Given the description of an element on the screen output the (x, y) to click on. 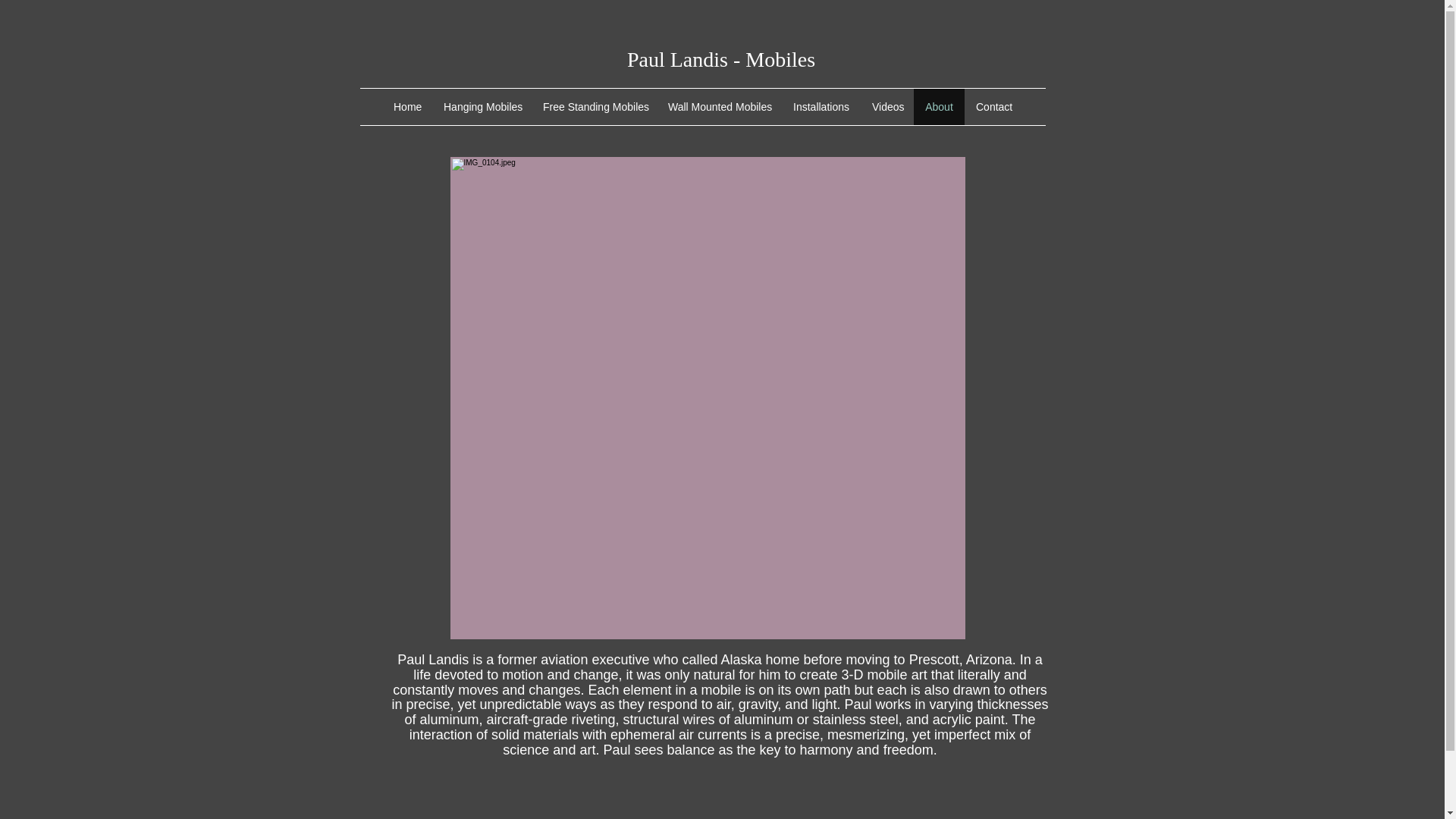
Free Standing Mobiles (593, 106)
Videos (887, 106)
About (938, 106)
Hanging Mobiles (481, 106)
Contact (993, 106)
Home (406, 106)
Installations (820, 106)
Wall Mounted Mobiles (718, 106)
